Given the description of an element on the screen output the (x, y) to click on. 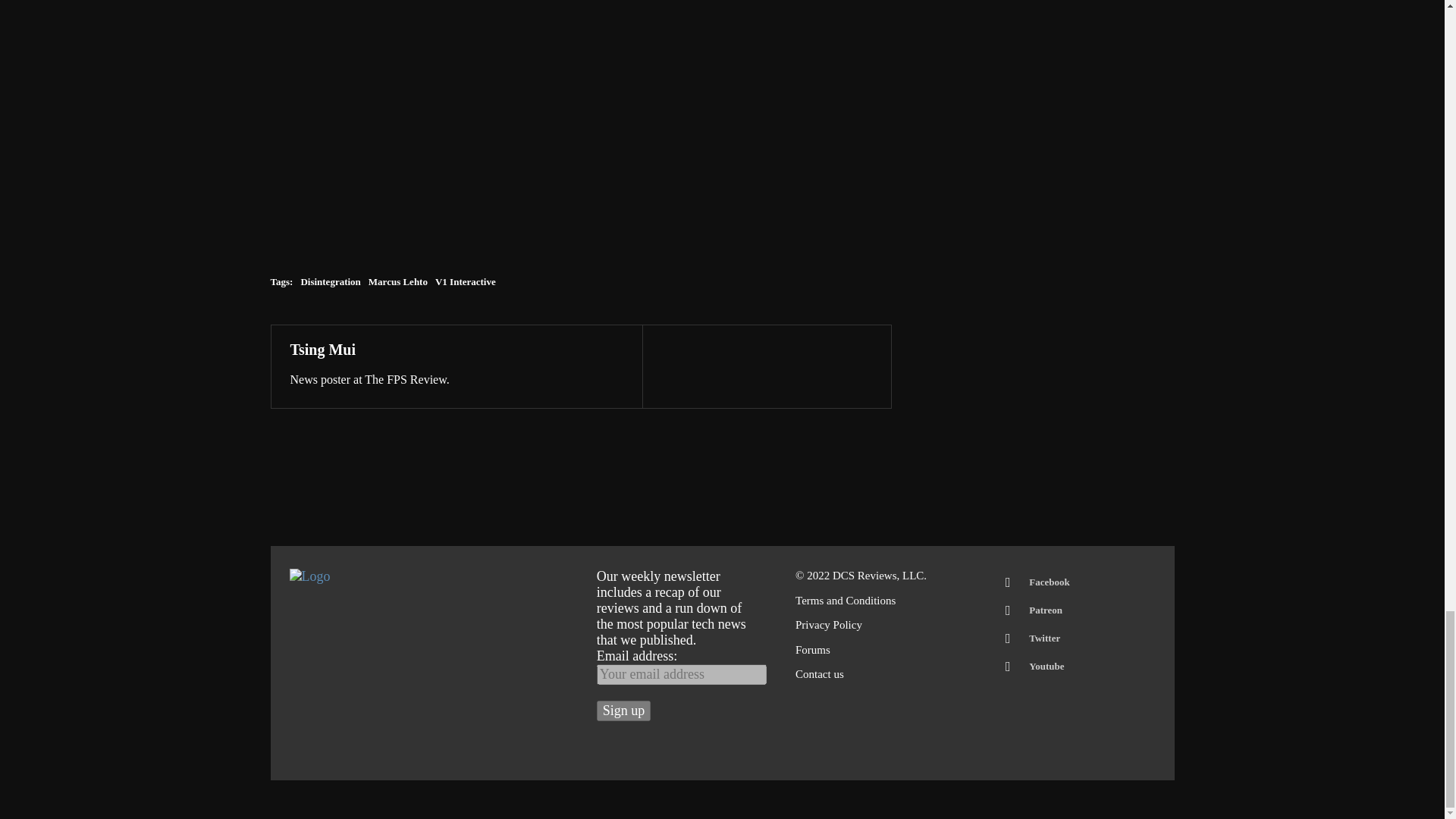
Sign up (623, 711)
